Given the description of an element on the screen output the (x, y) to click on. 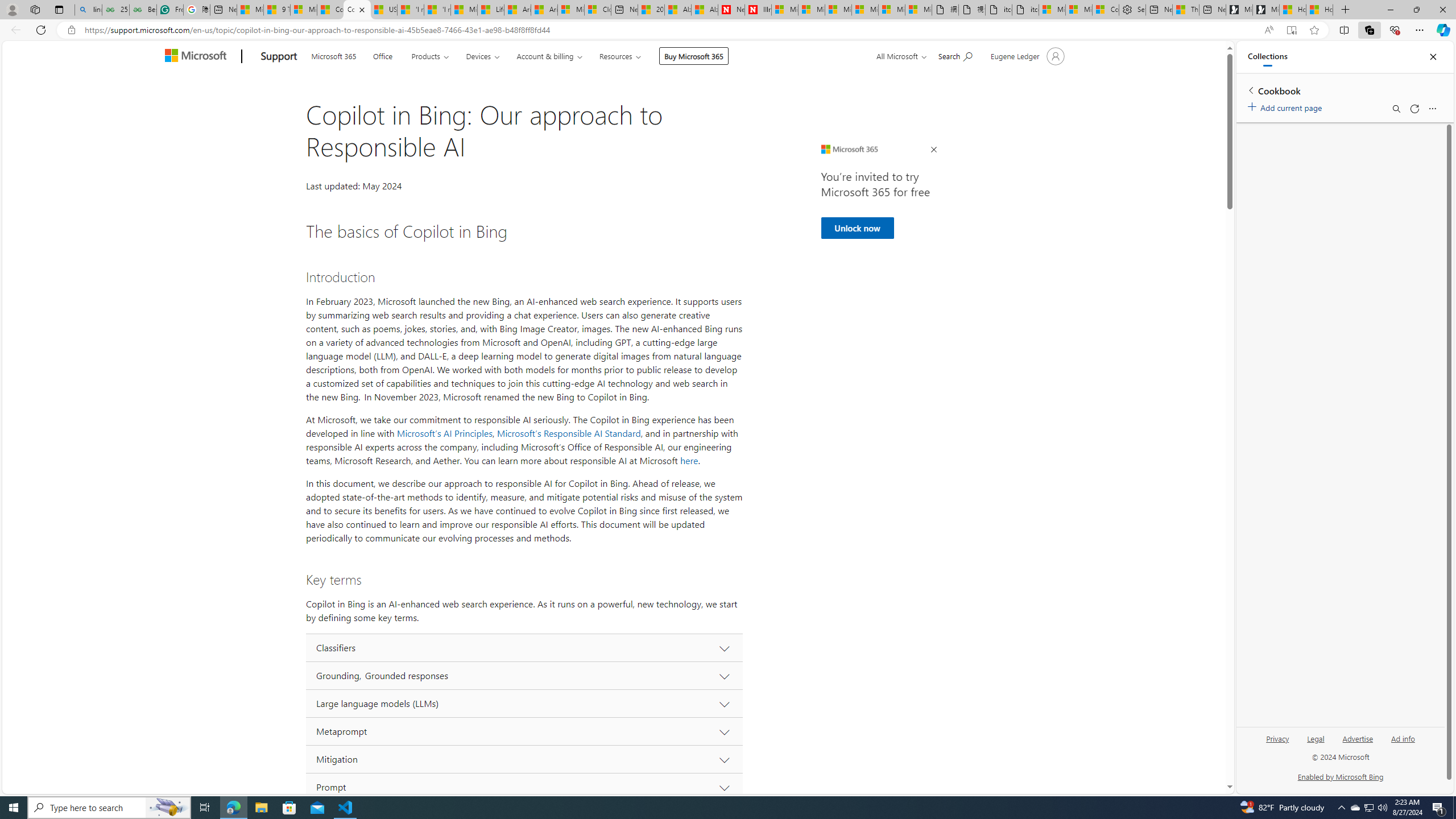
Consumer Health Data Privacy Policy (1105, 9)
Add current page (1286, 105)
How to Use a TV as a Computer Monitor (1319, 9)
Three Ways To Stop Sweating So Much (1185, 9)
Unlock now (857, 228)
